Given the description of an element on the screen output the (x, y) to click on. 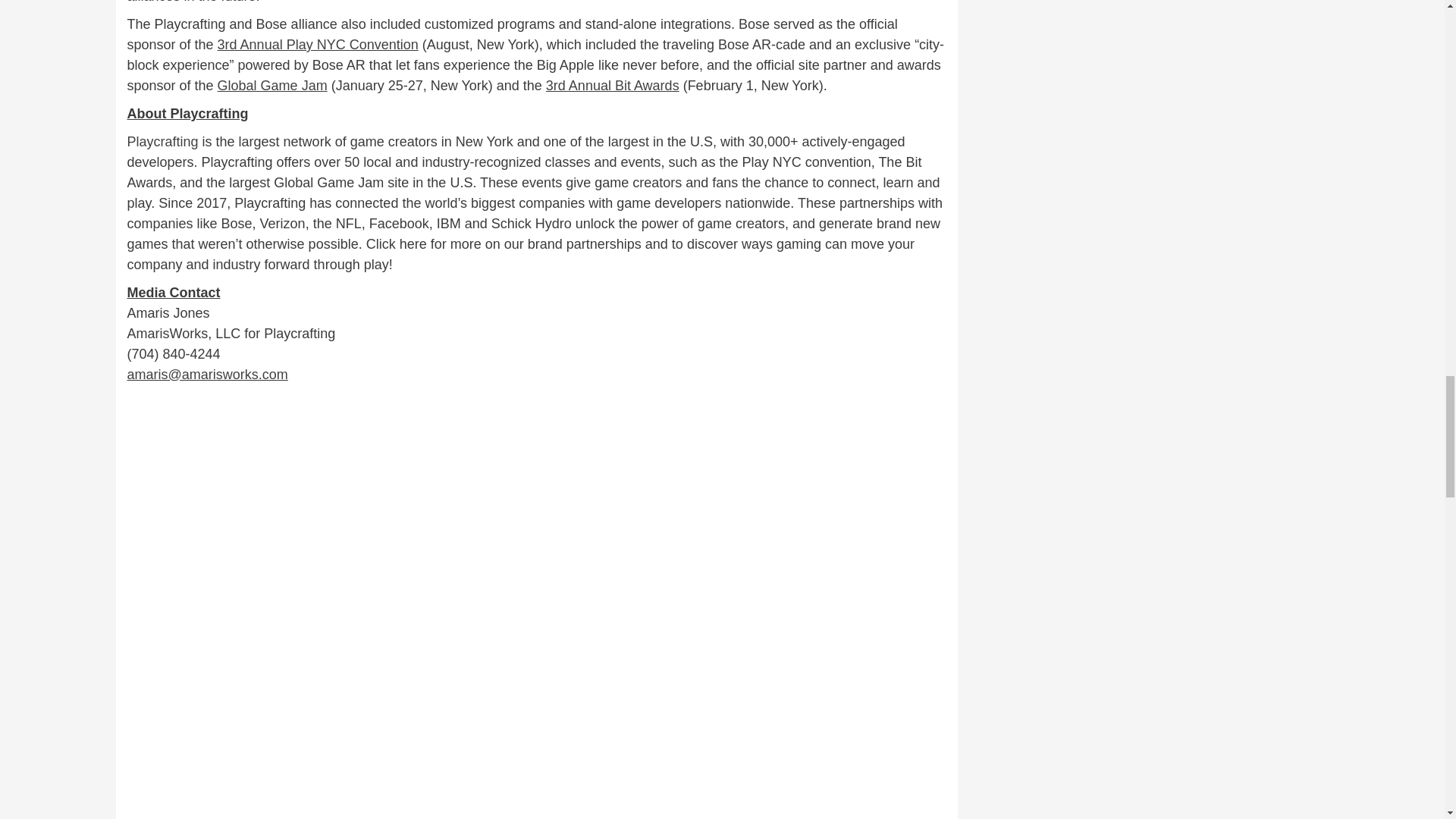
3rd Annual Bit Awards (612, 85)
3rd Annual Play NYC Convention (317, 44)
Global Game Jam (271, 85)
Playcrafting (163, 141)
